Given the description of an element on the screen output the (x, y) to click on. 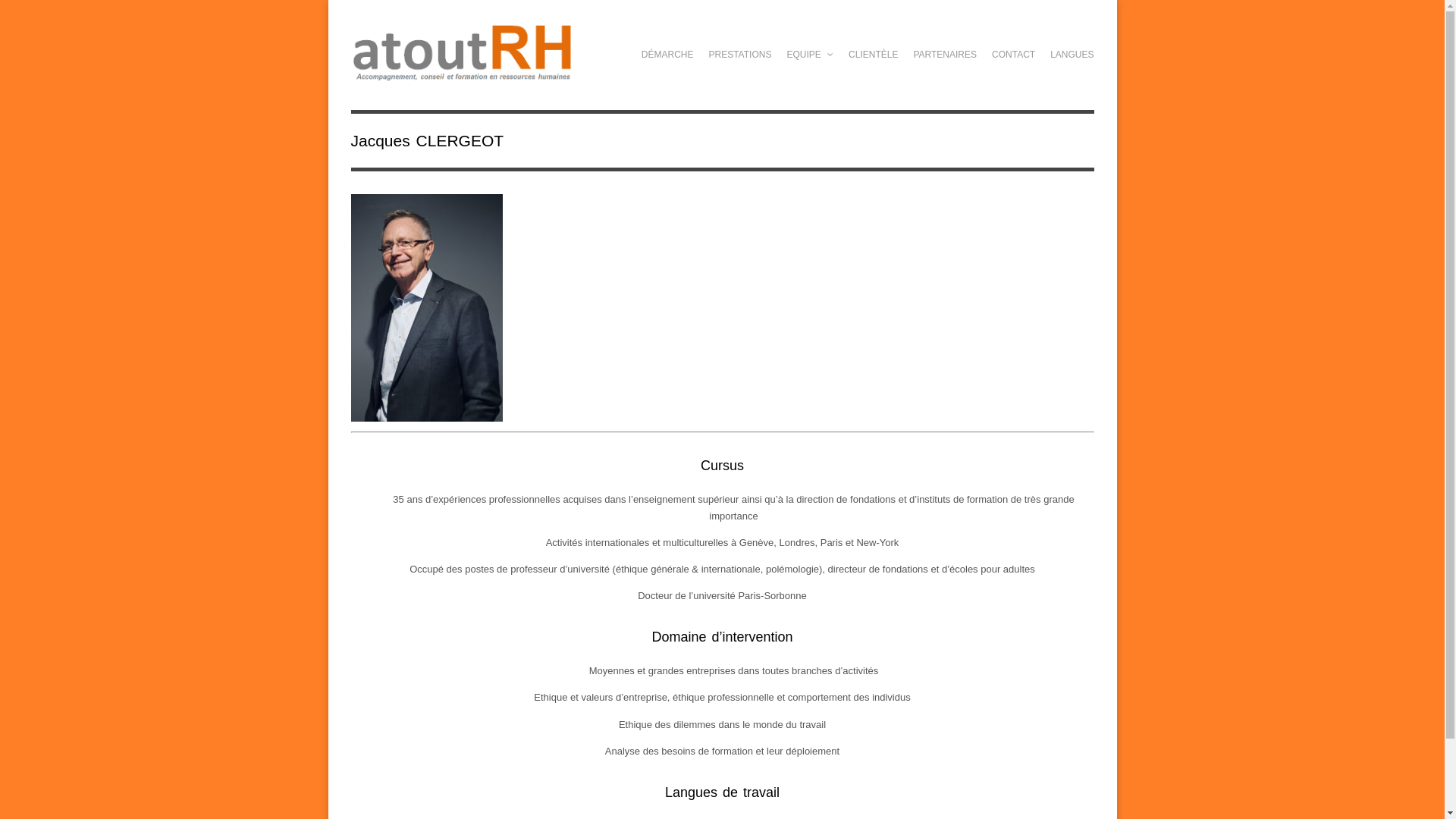
PRESTATIONS Element type: text (739, 54)
LANGUES Element type: text (1071, 54)
atoutRH Element type: hover (461, 73)
CONTACT Element type: text (1013, 54)
PARTENAIRES Element type: text (944, 54)
EQUIPE Element type: text (809, 54)
